Given the description of an element on the screen output the (x, y) to click on. 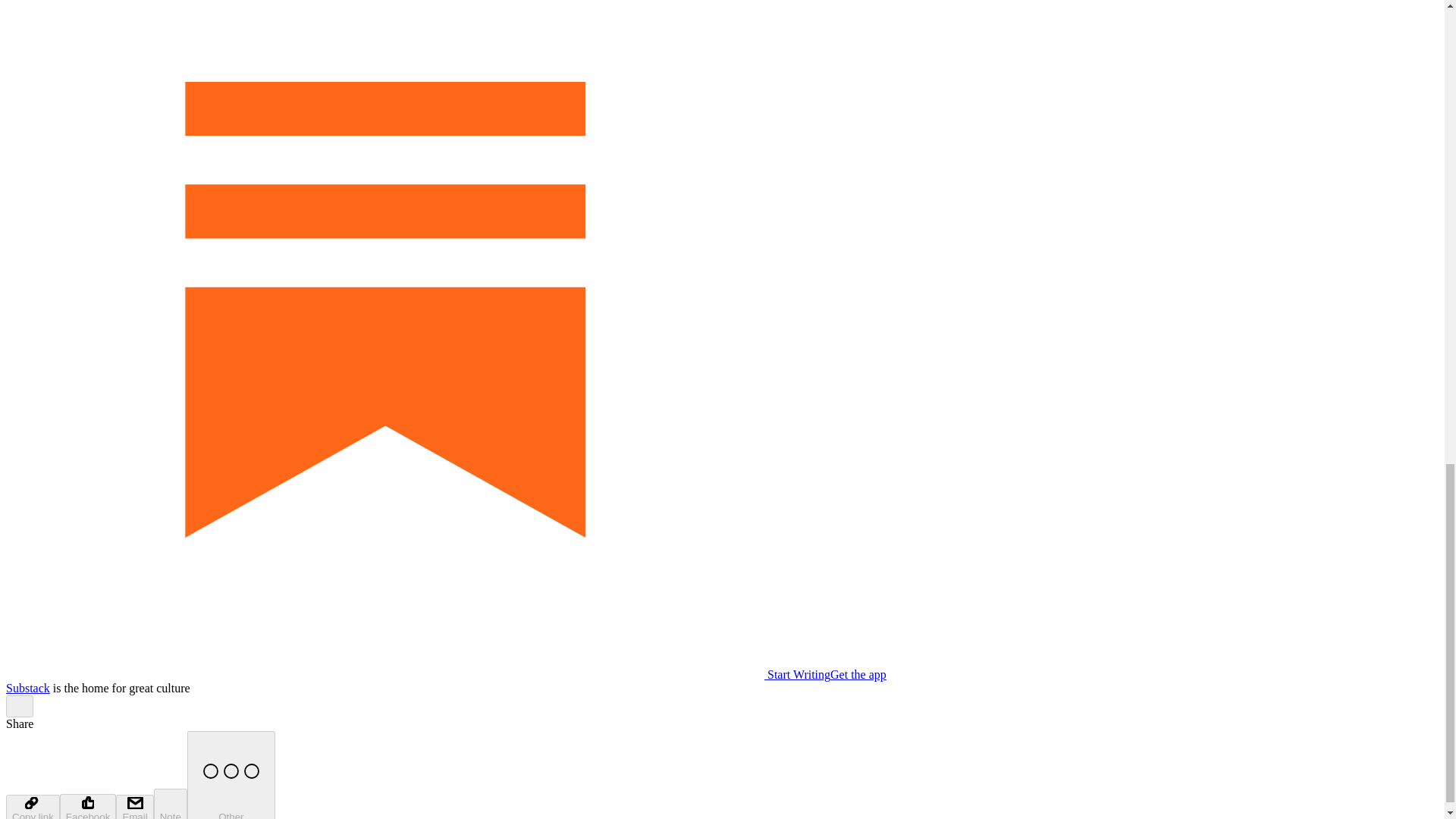
Substack (27, 687)
Get the app (857, 674)
Start Writing (417, 674)
